Given the description of an element on the screen output the (x, y) to click on. 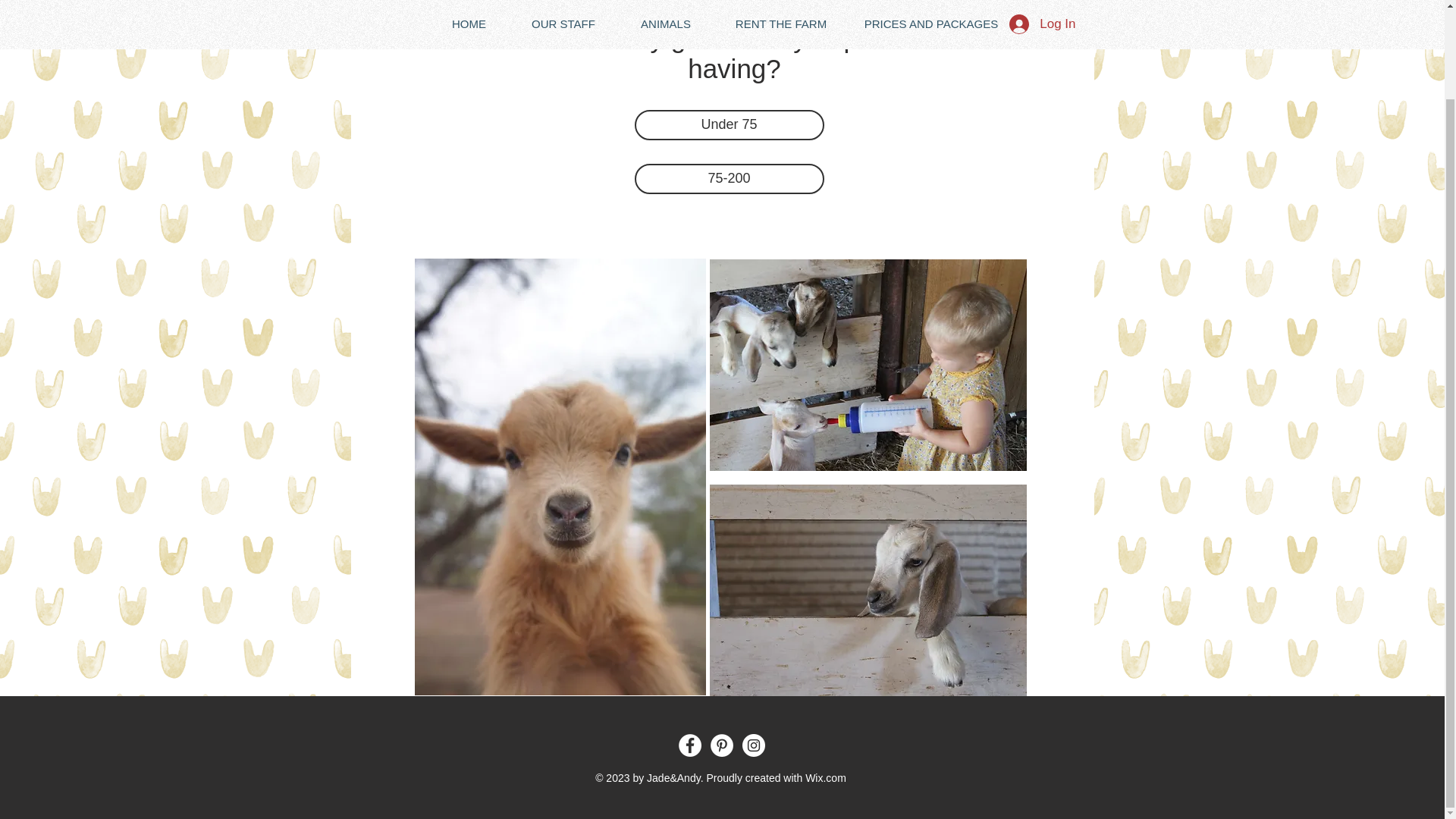
Under 75 (728, 124)
Wix.com (825, 777)
75-200 (728, 178)
